Given the description of an element on the screen output the (x, y) to click on. 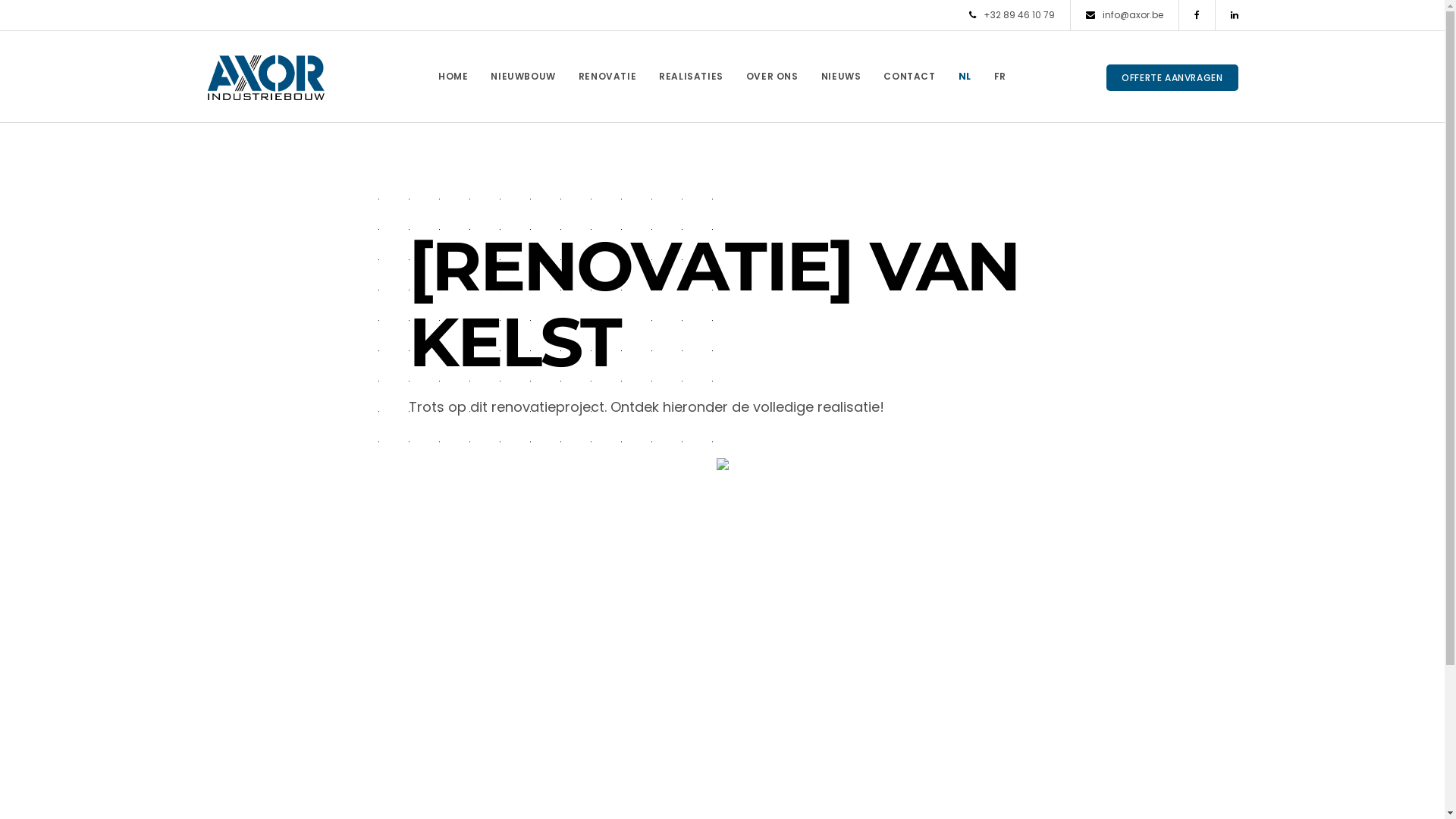
NIEUWS Element type: text (841, 76)
REALISATIES Element type: text (690, 76)
HOME Element type: text (452, 76)
info@axor.be Element type: text (1124, 15)
OFFERTE AANVRAGEN Element type: text (1171, 77)
OVER ONS Element type: text (772, 76)
FR Element type: text (1000, 76)
+32 89 46 10 79 Element type: text (1011, 15)
NL Element type: text (964, 76)
RENOVATIE Element type: text (607, 76)
CONTACT Element type: text (909, 76)
NIEUWBOUW Element type: text (522, 76)
